Given the description of an element on the screen output the (x, y) to click on. 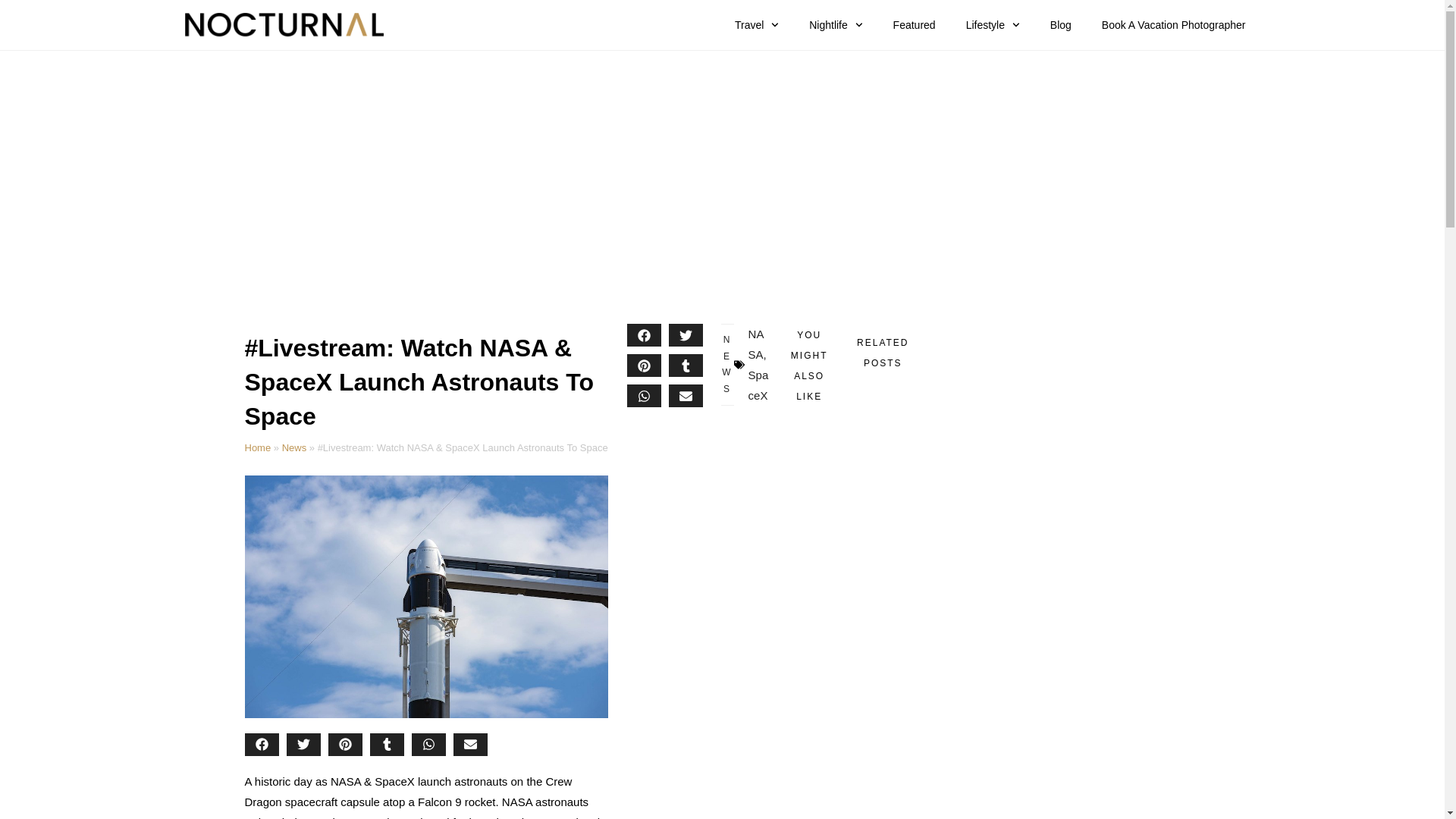
Blog (1060, 24)
Featured (913, 24)
Book A Vacation Photographer (1173, 24)
Lifestyle (992, 24)
Nightlife (835, 24)
Travel (756, 24)
